Given the description of an element on the screen output the (x, y) to click on. 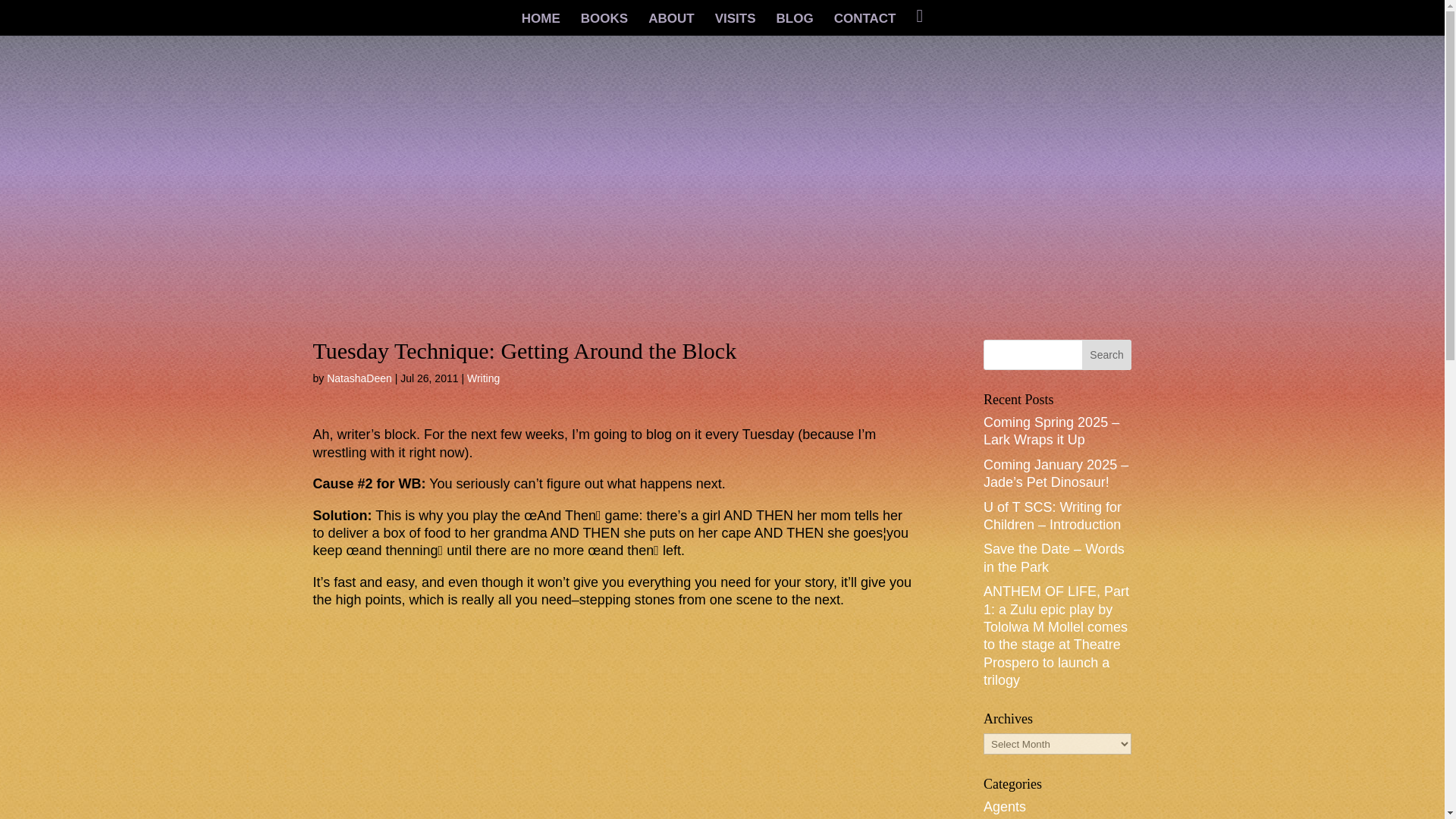
Search (1106, 354)
Posts by NatashaDeen (358, 378)
ABOUT (670, 23)
BOOKS (603, 23)
BLOG (794, 23)
Writing (483, 378)
CONTACT (865, 23)
HOME (540, 23)
Search (1106, 354)
Agents (1005, 806)
